Given the description of an element on the screen output the (x, y) to click on. 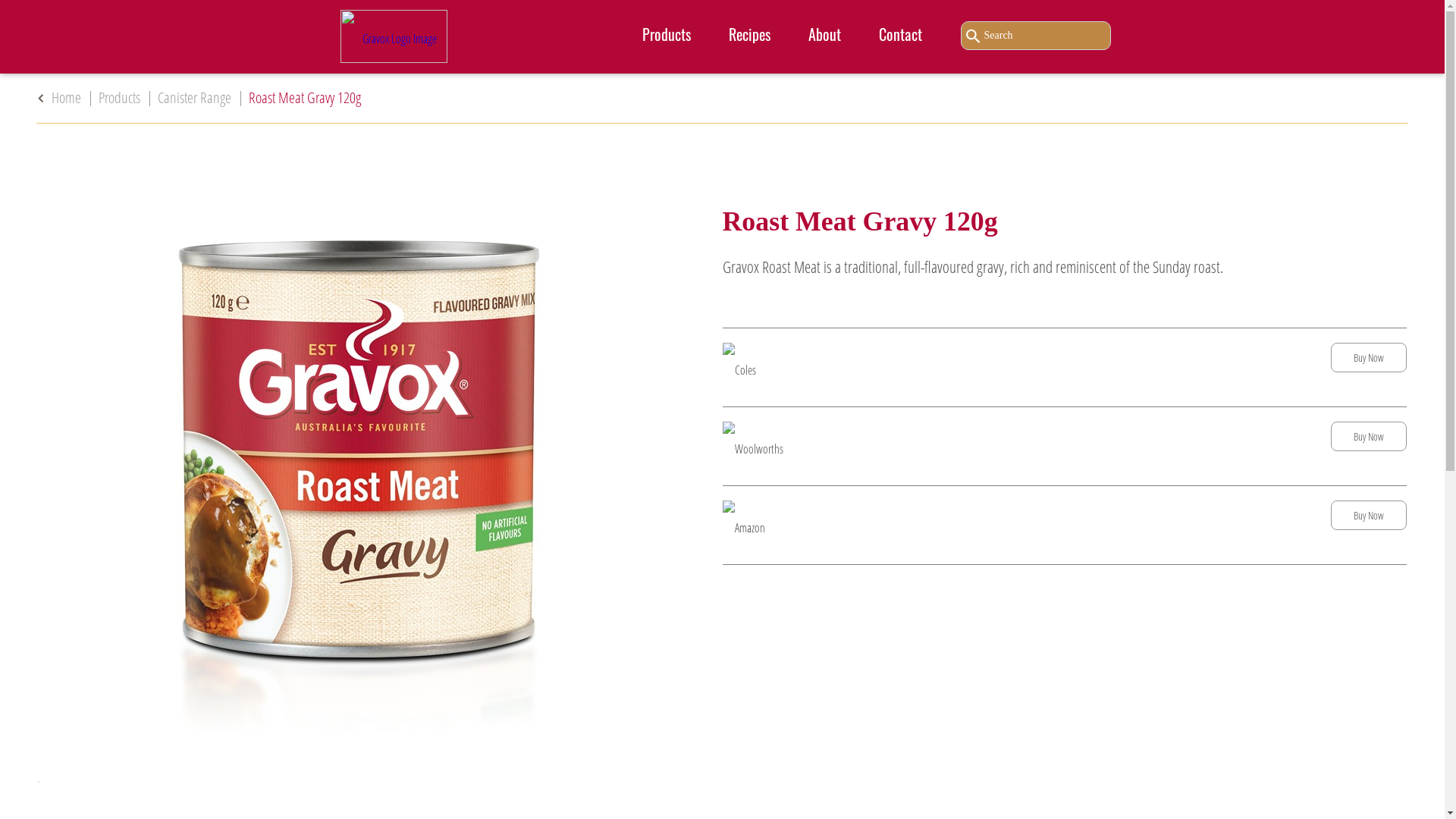
Roast Meat Gravy 120g Element type: text (304, 97)
Products Element type: text (119, 97)
Canister Range Element type: text (194, 97)
Buy Now Element type: text (1368, 515)
Buy Now Element type: text (1368, 357)
Products Element type: text (666, 36)
Contact Element type: text (900, 36)
Recipes Element type: text (749, 36)
Home Element type: text (66, 97)
About Element type: text (823, 36)
Buy Now Element type: text (1368, 436)
Gravox Element type: hover (392, 36)
